Given the description of an element on the screen output the (x, y) to click on. 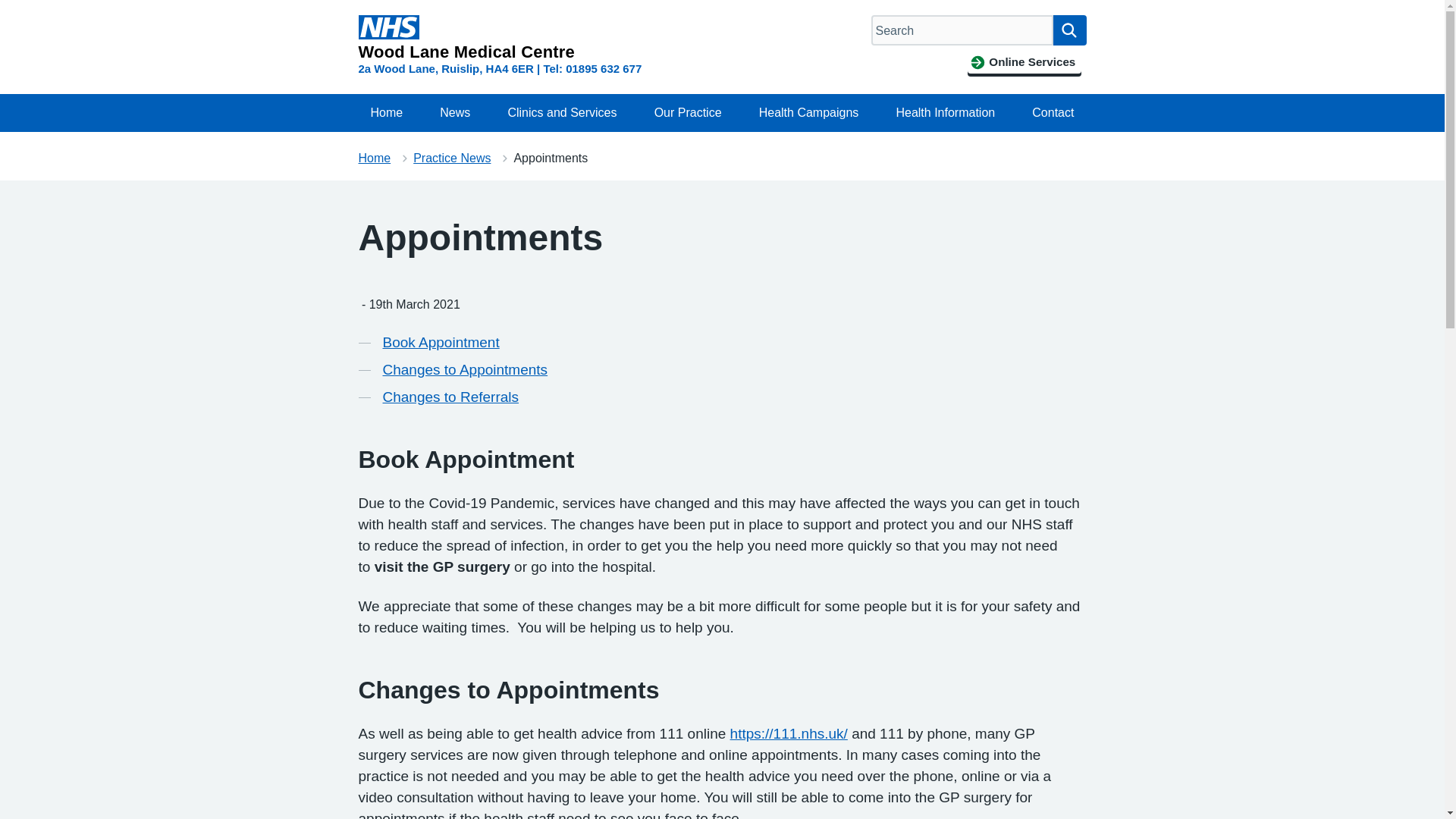
Online Services  (1024, 61)
Health Campaigns (808, 112)
Practice News (451, 157)
NHS Logo (388, 27)
Book Appointment (440, 342)
Home (374, 157)
Changes to Appointments (464, 369)
News (454, 112)
Clinics and Services (561, 112)
Changes to Referrals (449, 396)
